Given the description of an element on the screen output the (x, y) to click on. 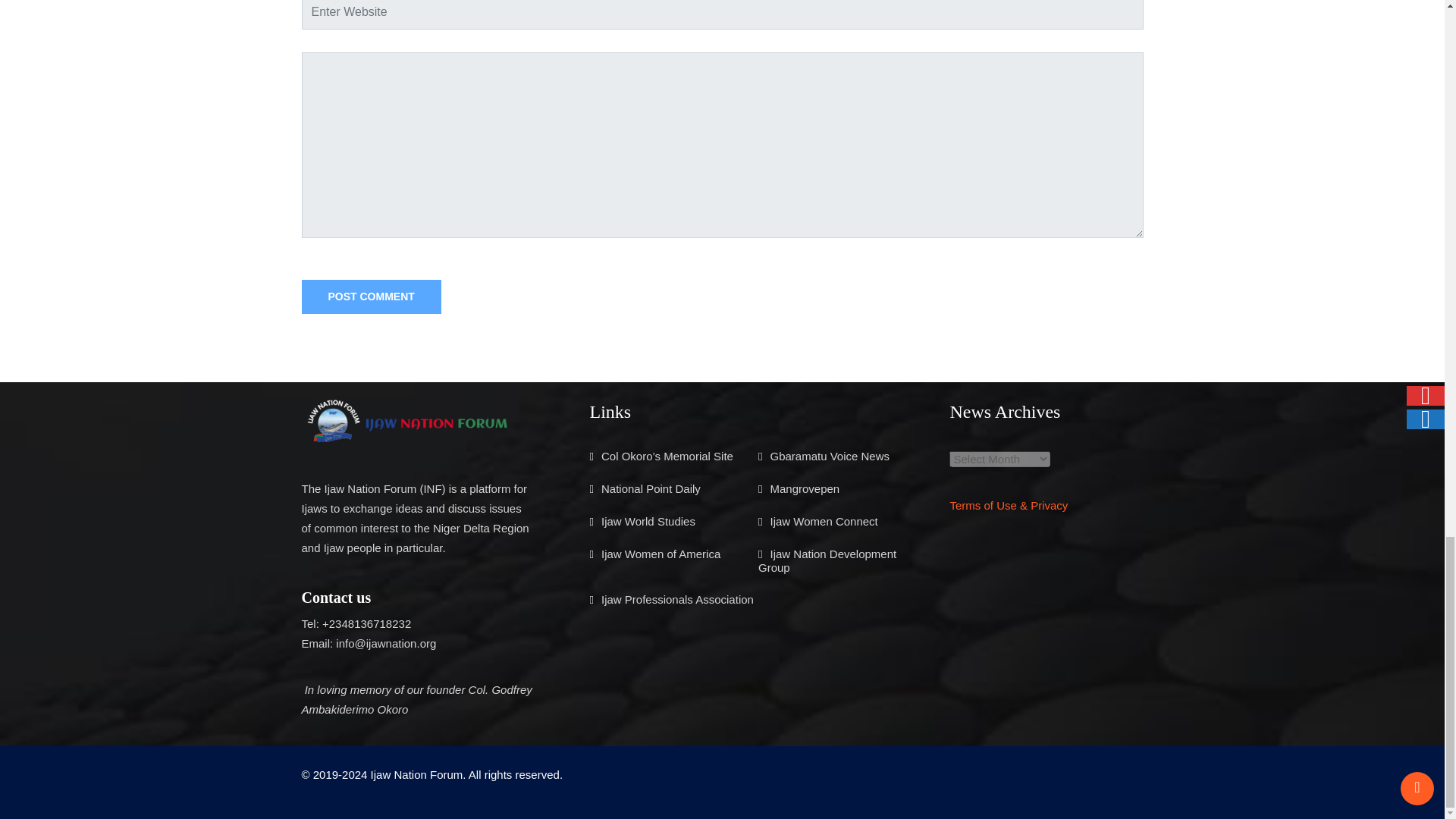
Ijaw Nation Development Group (827, 560)
Post Comment (371, 296)
Ijaw World Studies (648, 521)
Gbaramatu Voice News (829, 455)
Ijaw Women Connect (823, 521)
Ijaw Women of America (660, 553)
National Point Daily (650, 488)
Mangrovepen (805, 488)
Ijaw Professionals Association (677, 599)
Post Comment (371, 296)
